Given the description of an element on the screen output the (x, y) to click on. 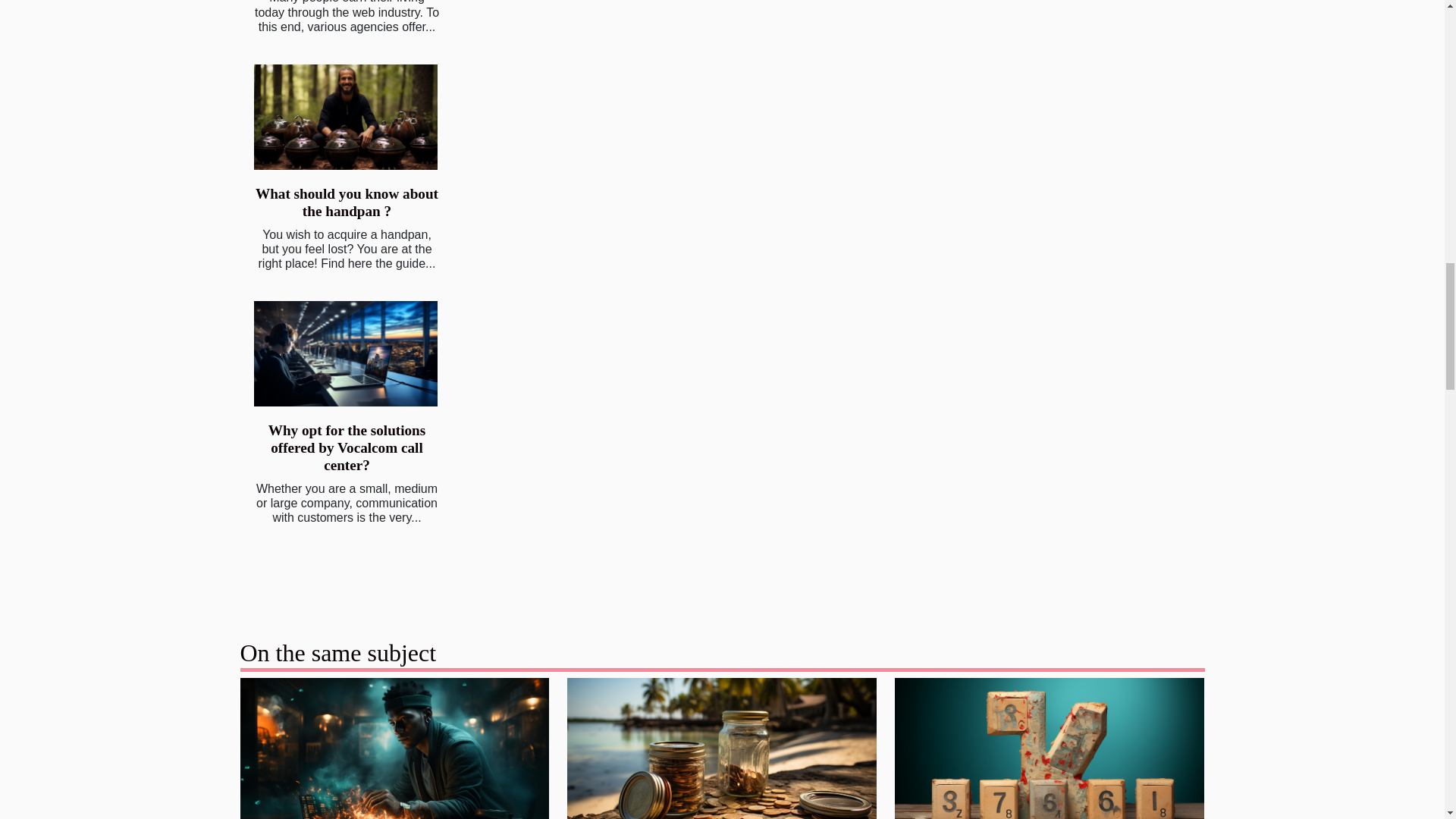
What should you know about the handpan ? (347, 202)
What should you know about the handpan ? (345, 116)
How to register on 1xbet in Bangladesh? (394, 764)
4 value of the letter X in Scrabble points (1049, 764)
Why opt for the solutions offered by Vocalcom call center? (346, 447)
What should you know about the handpan ? (347, 202)
Why opt for the solutions offered by Vocalcom call center? (345, 353)
Why opt for the solutions offered by Vocalcom call center? (346, 447)
